Given the description of an element on the screen output the (x, y) to click on. 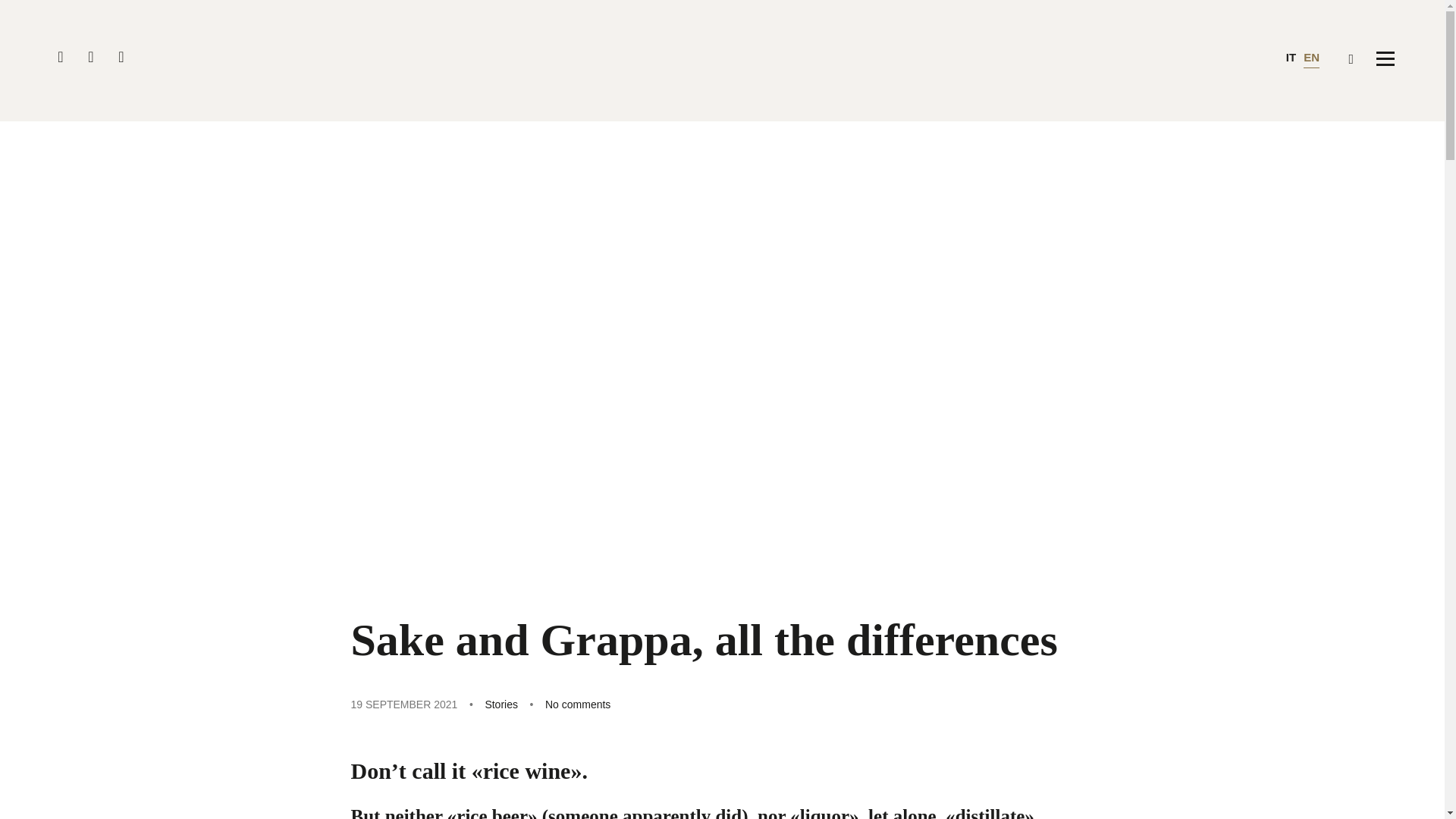
Instagram (121, 56)
Twitter (90, 56)
No comments (577, 704)
Stories (501, 704)
Facebook (60, 56)
EN (1311, 58)
Grappa Marolo (721, 60)
